Given the description of an element on the screen output the (x, y) to click on. 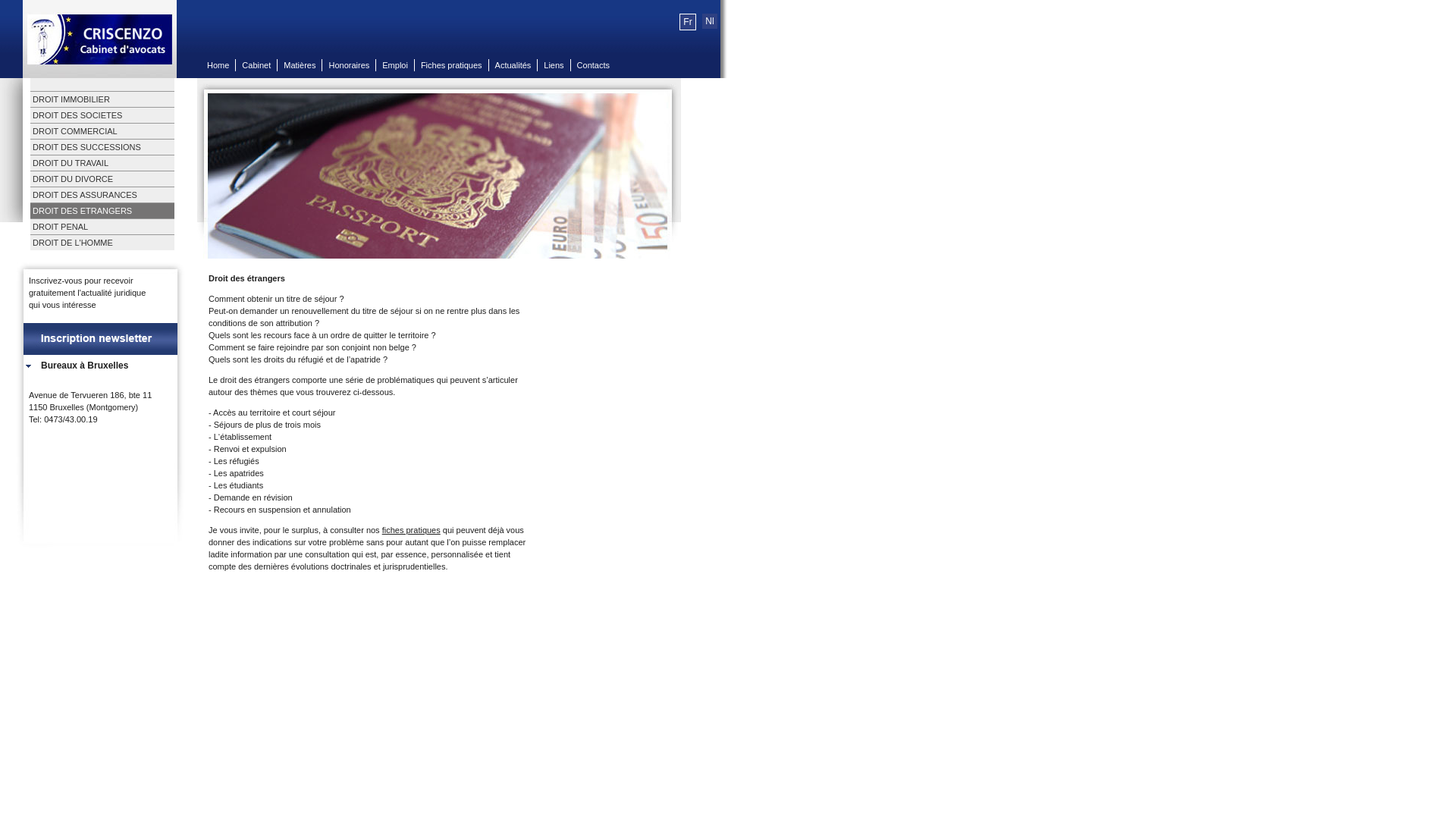
Nl Element type: text (709, 20)
Honoraires Element type: text (348, 64)
DROIT DES ASSURANCES Element type: text (102, 194)
fiches pratiques Element type: text (411, 529)
DROIT DES SUCCESSIONS Element type: text (102, 146)
Cabinet Element type: text (255, 64)
DROIT DES SOCIETES Element type: text (102, 114)
Liens Element type: text (553, 64)
Fr Element type: text (687, 21)
Emploi Element type: text (394, 64)
Contacts Element type: text (593, 64)
DROIT DE L'HOMME Element type: text (102, 242)
DROIT DU TRAVAIL Element type: text (102, 162)
Fiches pratiques Element type: text (451, 64)
Home Element type: text (218, 64)
DROIT COMMERCIAL Element type: text (102, 130)
DROIT PENAL Element type: text (102, 226)
DROIT DU DIVORCE Element type: text (102, 178)
DROIT DES ETRANGERS Element type: text (102, 210)
DROIT IMMOBILIER Element type: text (102, 98)
